Given the description of an element on the screen output the (x, y) to click on. 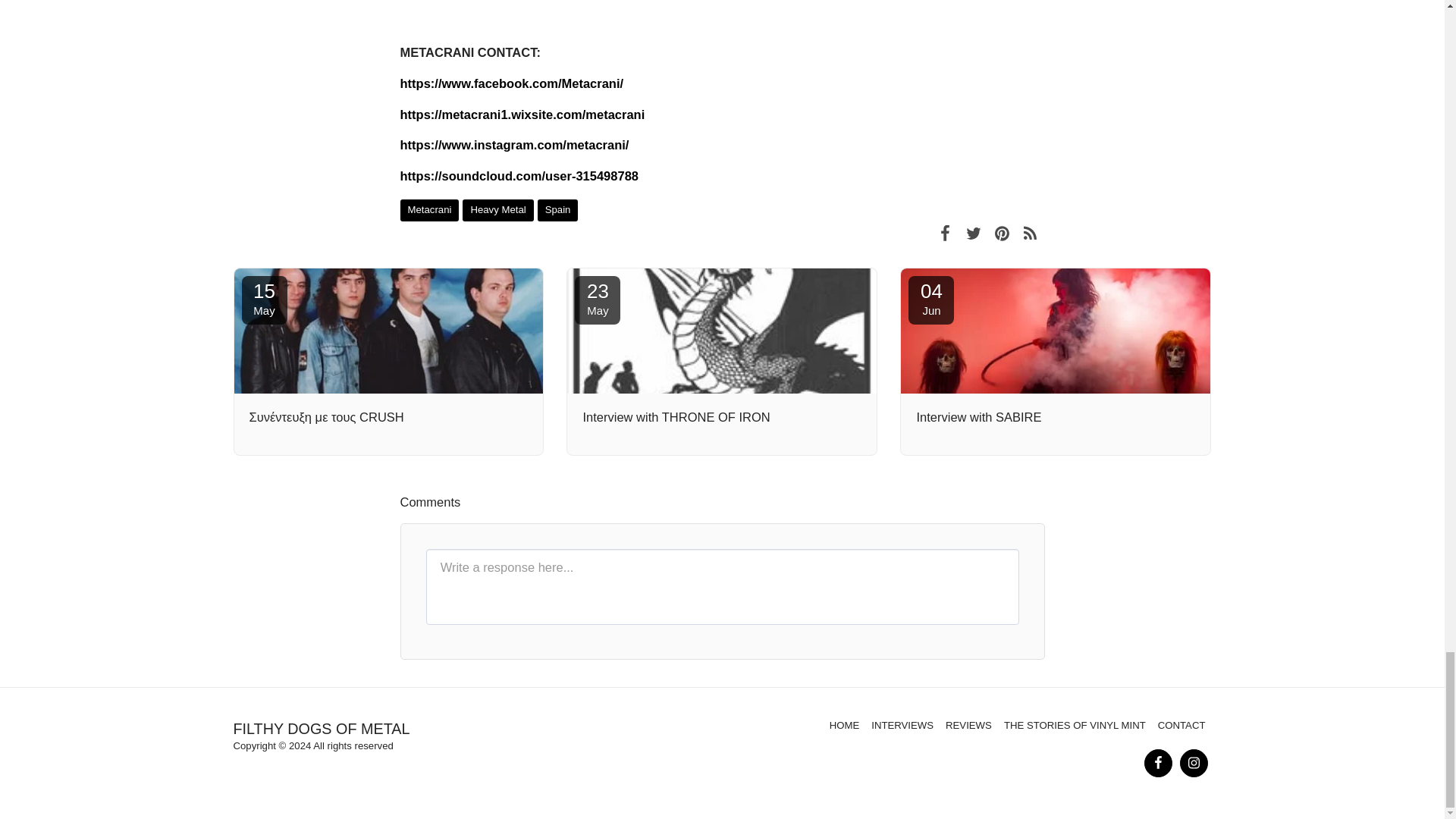
Interview with THRONE OF IRON (721, 417)
Heavy Metal (497, 210)
Tweet (263, 300)
Pin it (973, 232)
Spain (1002, 232)
Metacrani (557, 210)
Share on Facebook (430, 210)
RSS (945, 232)
